Given the description of an element on the screen output the (x, y) to click on. 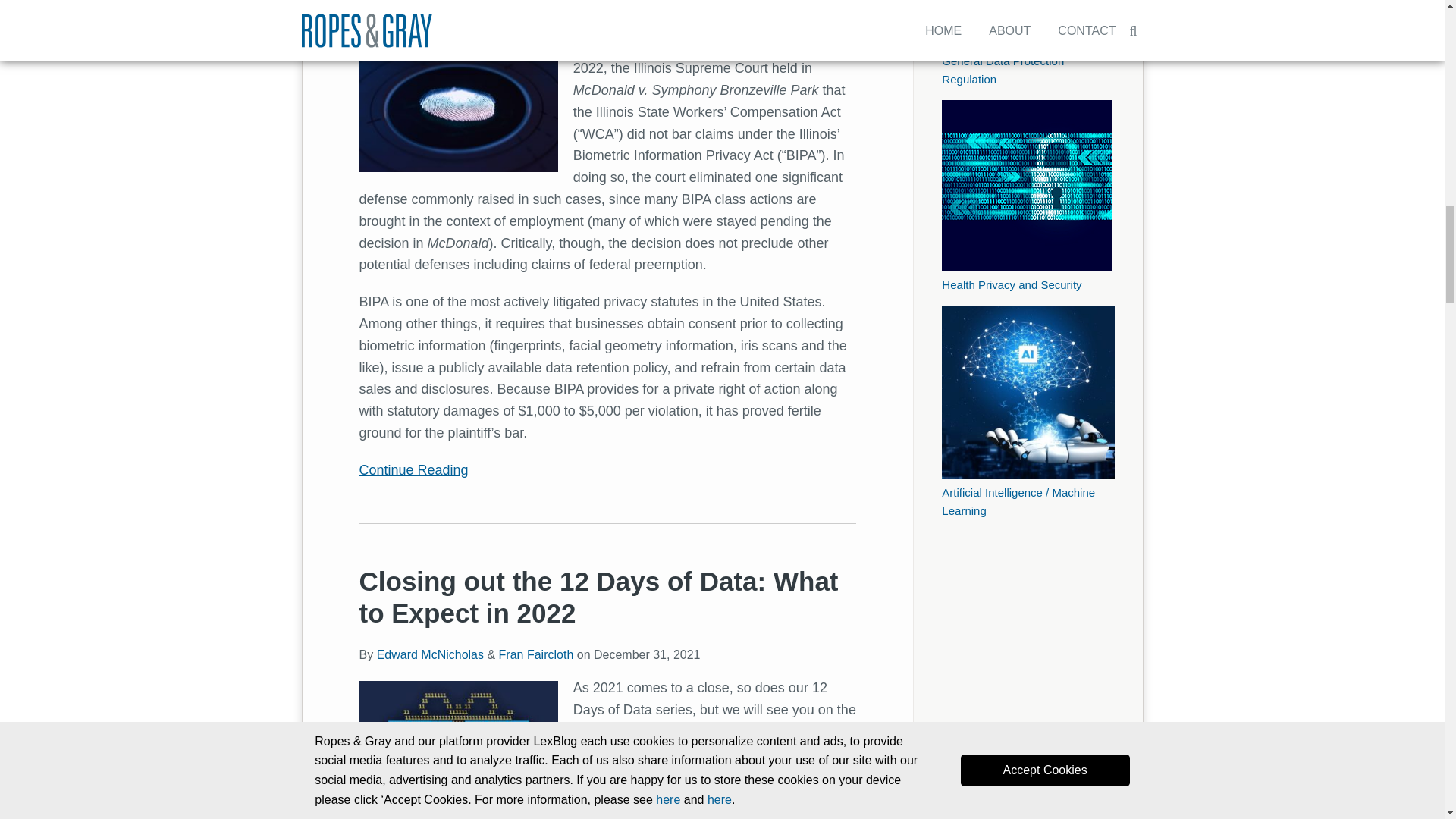
Shong Yin (485, 12)
Fran Faircloth (536, 654)
Closing out the 12 Days of Data: What to Expect in 2022 (598, 597)
Matthew Cin (410, 12)
Edward McNicholas (430, 654)
